Given the description of an element on the screen output the (x, y) to click on. 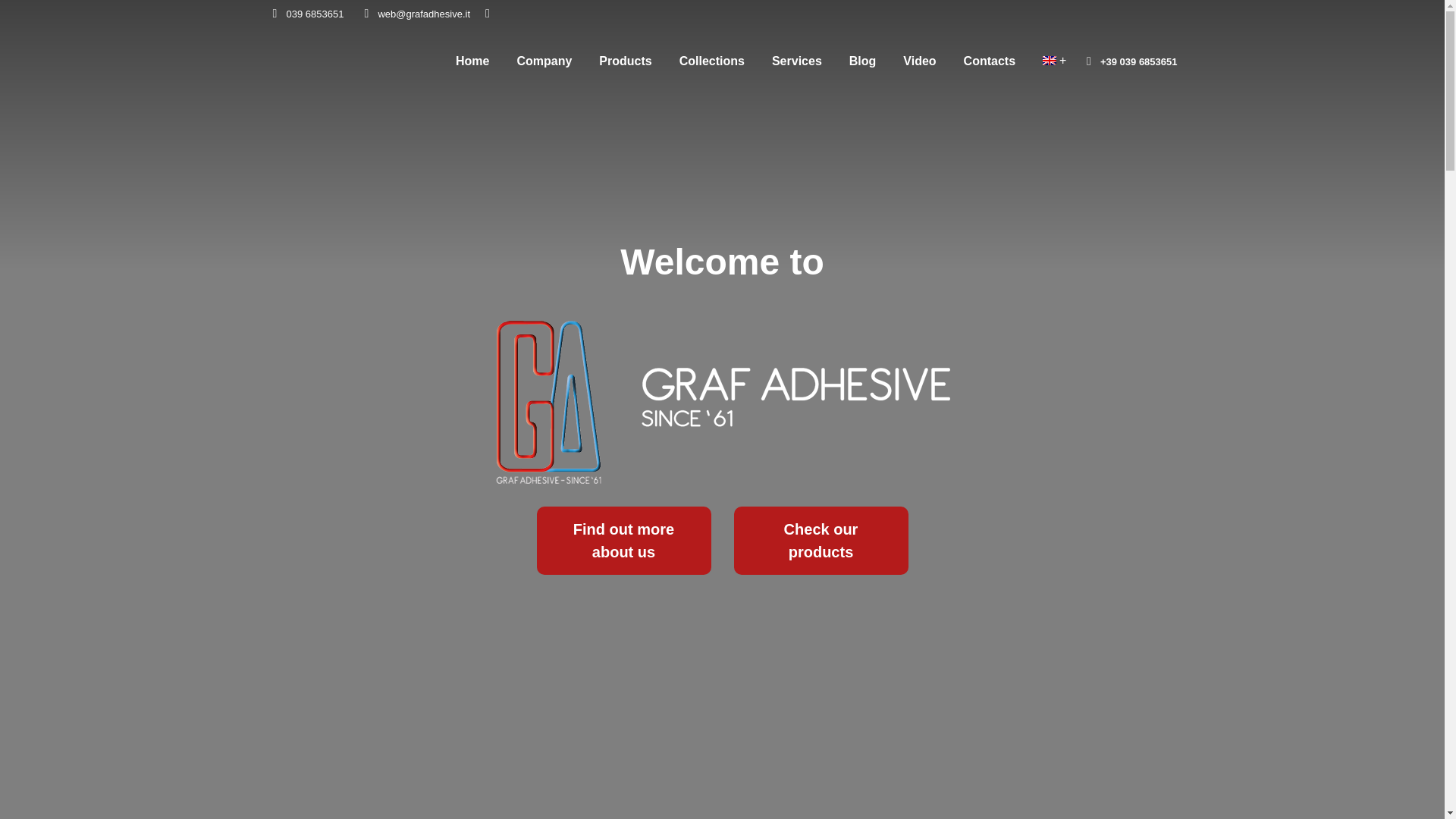
Contacts (988, 60)
Home (472, 60)
Go! (29, 17)
Video (919, 60)
Company (544, 60)
Collections (712, 60)
Services (796, 60)
039 6853651 (304, 12)
Products (624, 60)
